Given the description of an element on the screen output the (x, y) to click on. 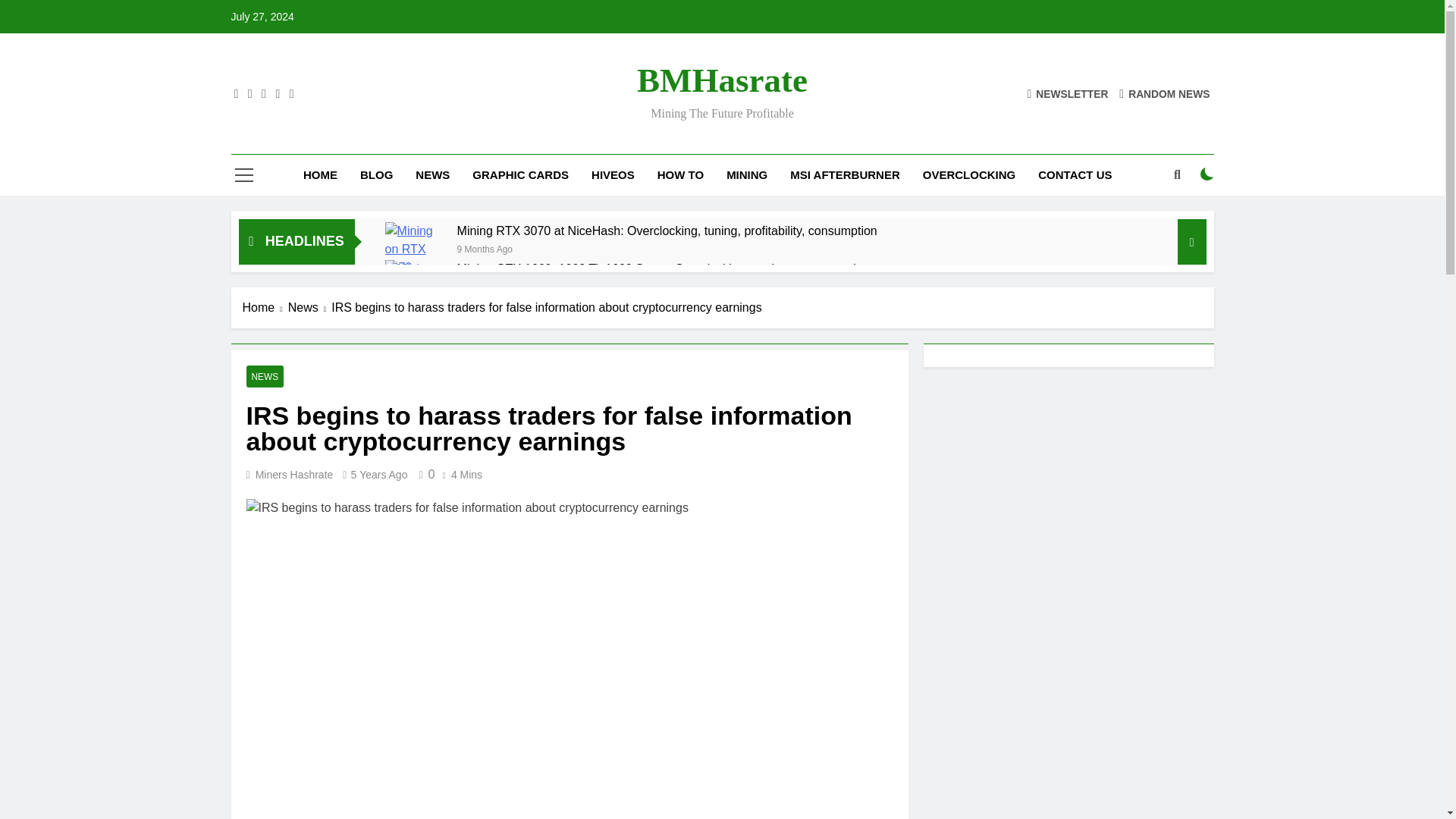
HIVEOS (612, 174)
BMHasrate (722, 80)
MSI AFTERBURNER (844, 174)
CONTACT US (1074, 174)
9 Months Ago (484, 247)
RANDOM NEWS (1164, 92)
HOW TO (680, 174)
HOME (320, 174)
NEWSLETTER (1067, 92)
OVERCLOCKING (969, 174)
MINING (746, 174)
on (1206, 173)
